Given the description of an element on the screen output the (x, y) to click on. 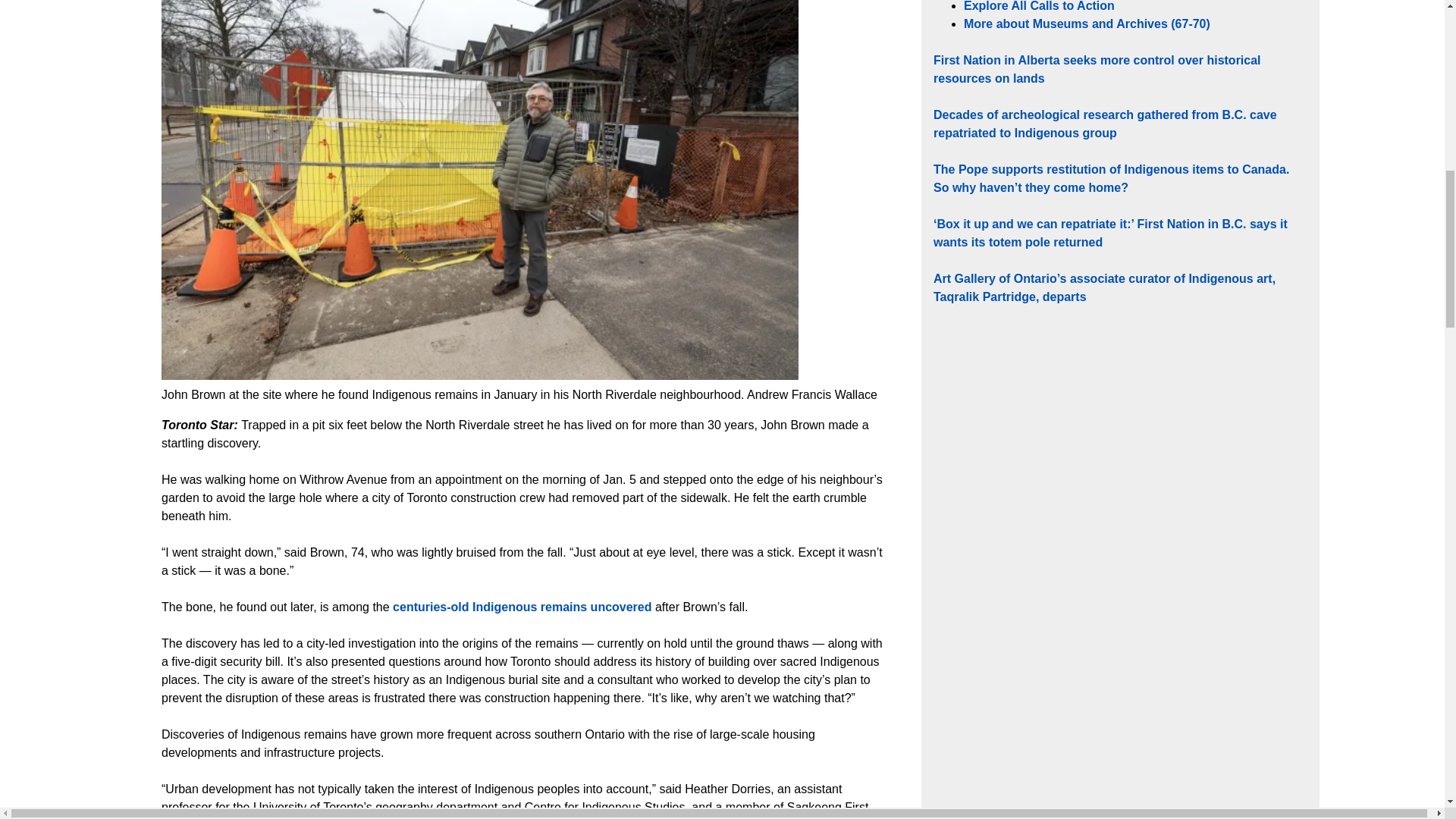
centuries-old Indigenous remains uncovered (521, 606)
Explore All Calls to Action (1039, 6)
